Given the description of an element on the screen output the (x, y) to click on. 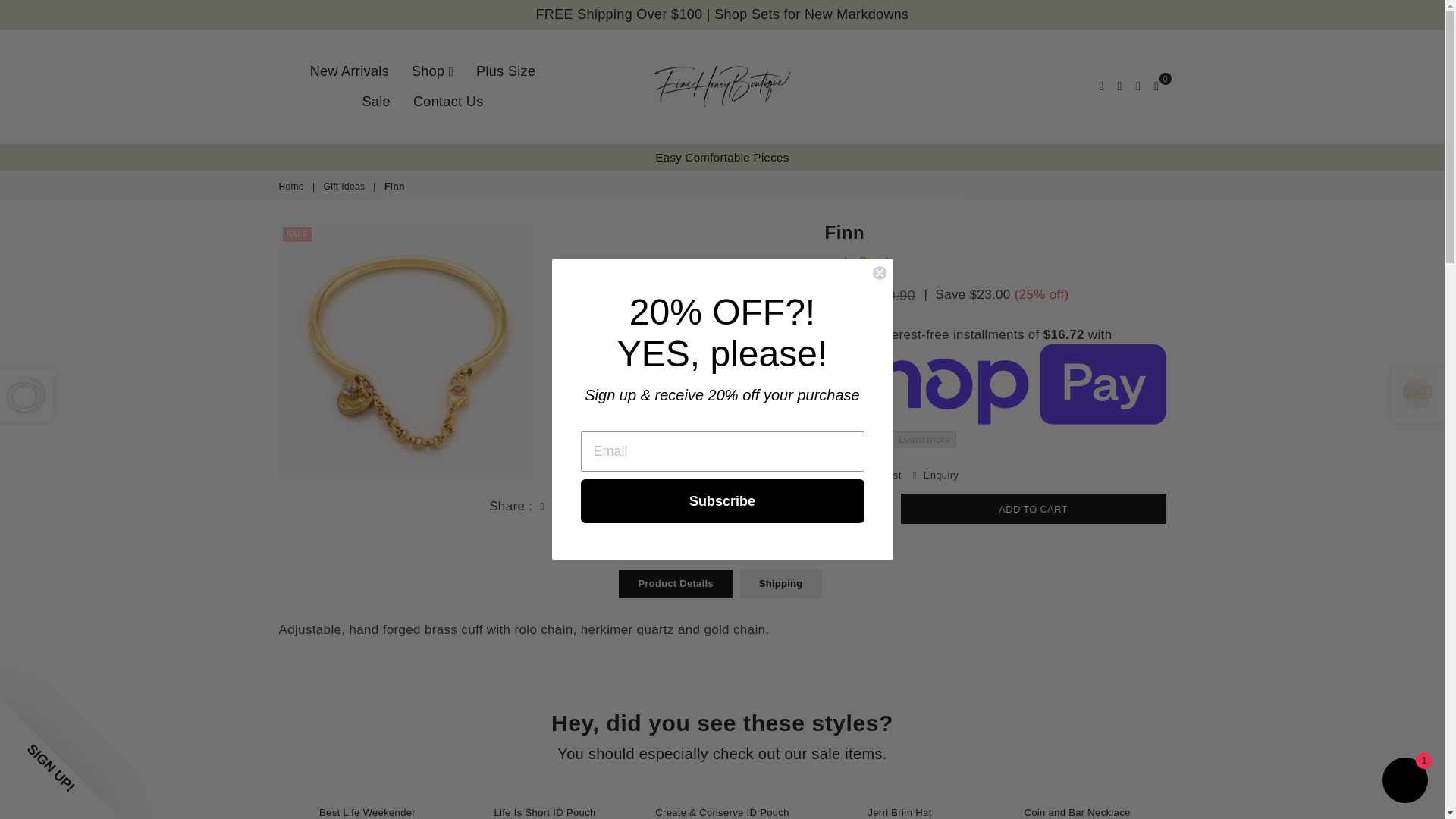
0 (1156, 86)
Settings (1119, 86)
Search (1100, 86)
New Arrivals (349, 71)
Contact Us (449, 101)
Fine Honey (722, 86)
Back to the home page (292, 186)
Plus Size (505, 71)
1 (856, 508)
Sale (375, 101)
Shop (432, 71)
Quantity (859, 508)
Cart (1156, 86)
Pin on Pinterest (561, 506)
Share by Email (581, 506)
